Given the description of an element on the screen output the (x, y) to click on. 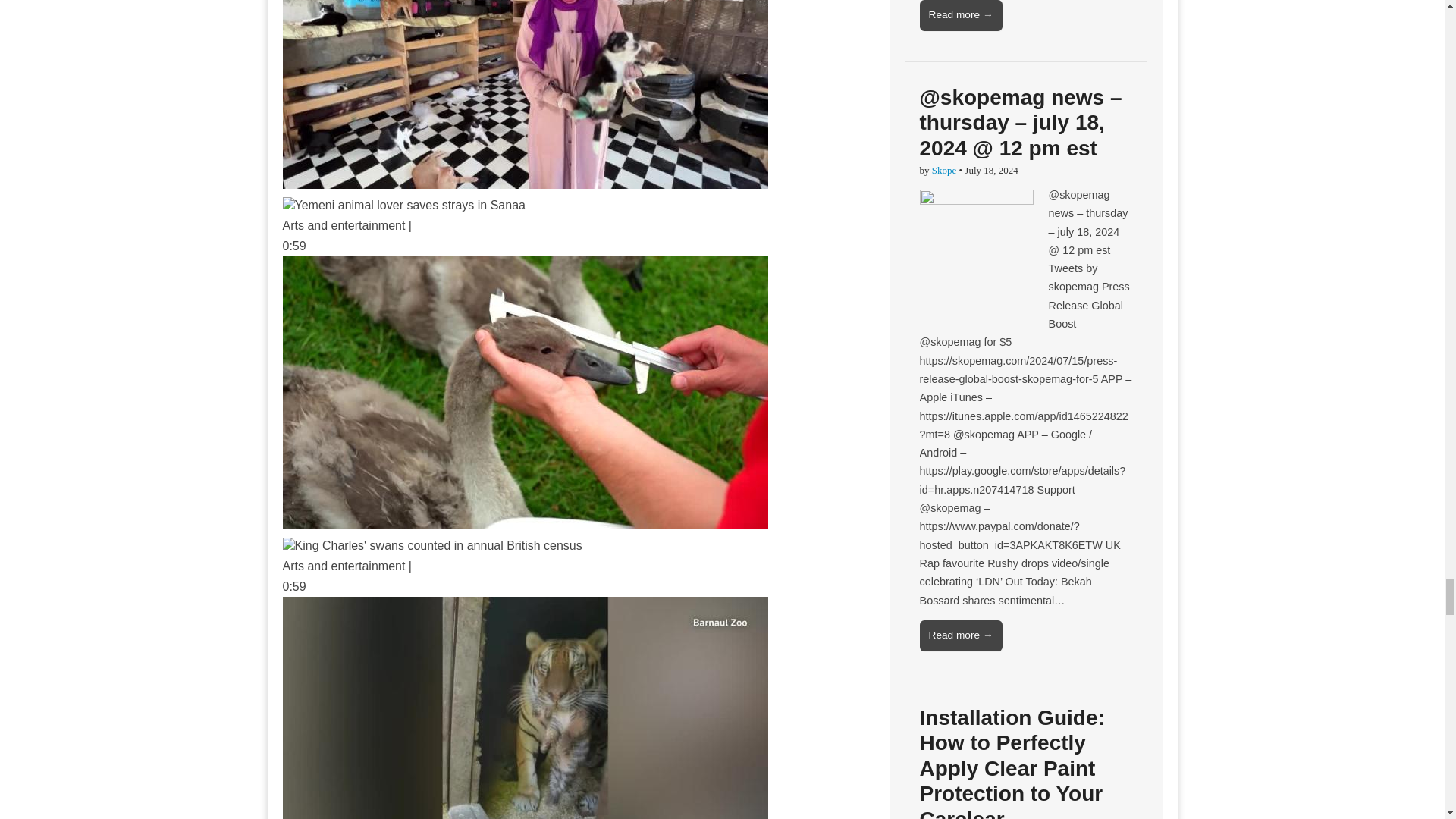
Posts by Skope (943, 170)
